Given the description of an element on the screen output the (x, y) to click on. 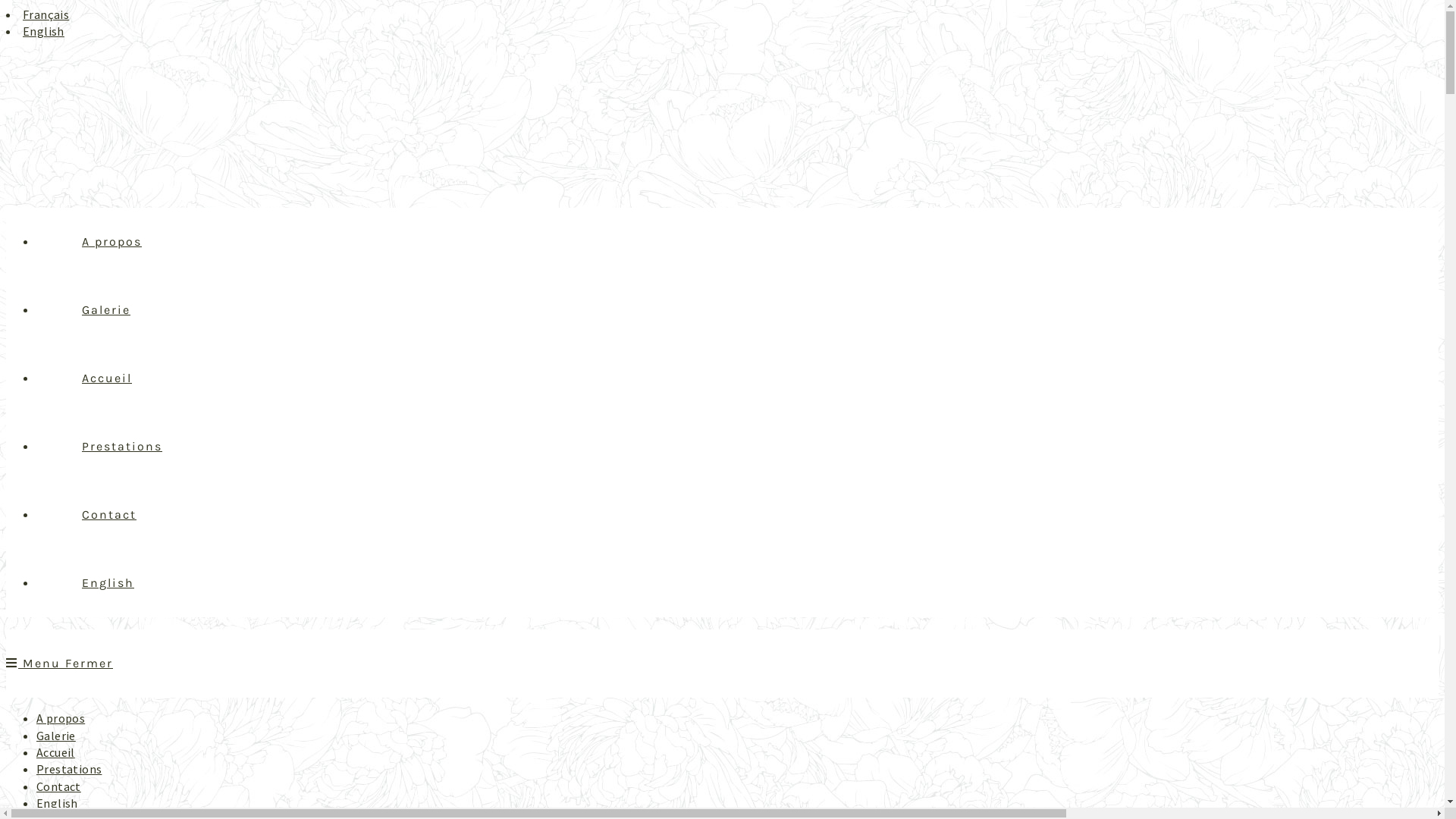
Contact Element type: text (58, 785)
English Element type: text (43, 30)
Galerie Element type: text (105, 309)
A propos Element type: text (111, 241)
Prestations Element type: text (68, 768)
Prestations Element type: text (121, 446)
Skip to content Element type: text (5, 5)
English Element type: text (107, 582)
A propos Element type: text (60, 717)
Galerie Element type: text (55, 735)
Accueil Element type: text (55, 751)
Menu Fermer Element type: text (59, 662)
Accueil Element type: text (106, 377)
English Element type: text (57, 802)
Contact Element type: text (109, 514)
